Given the description of an element on the screen output the (x, y) to click on. 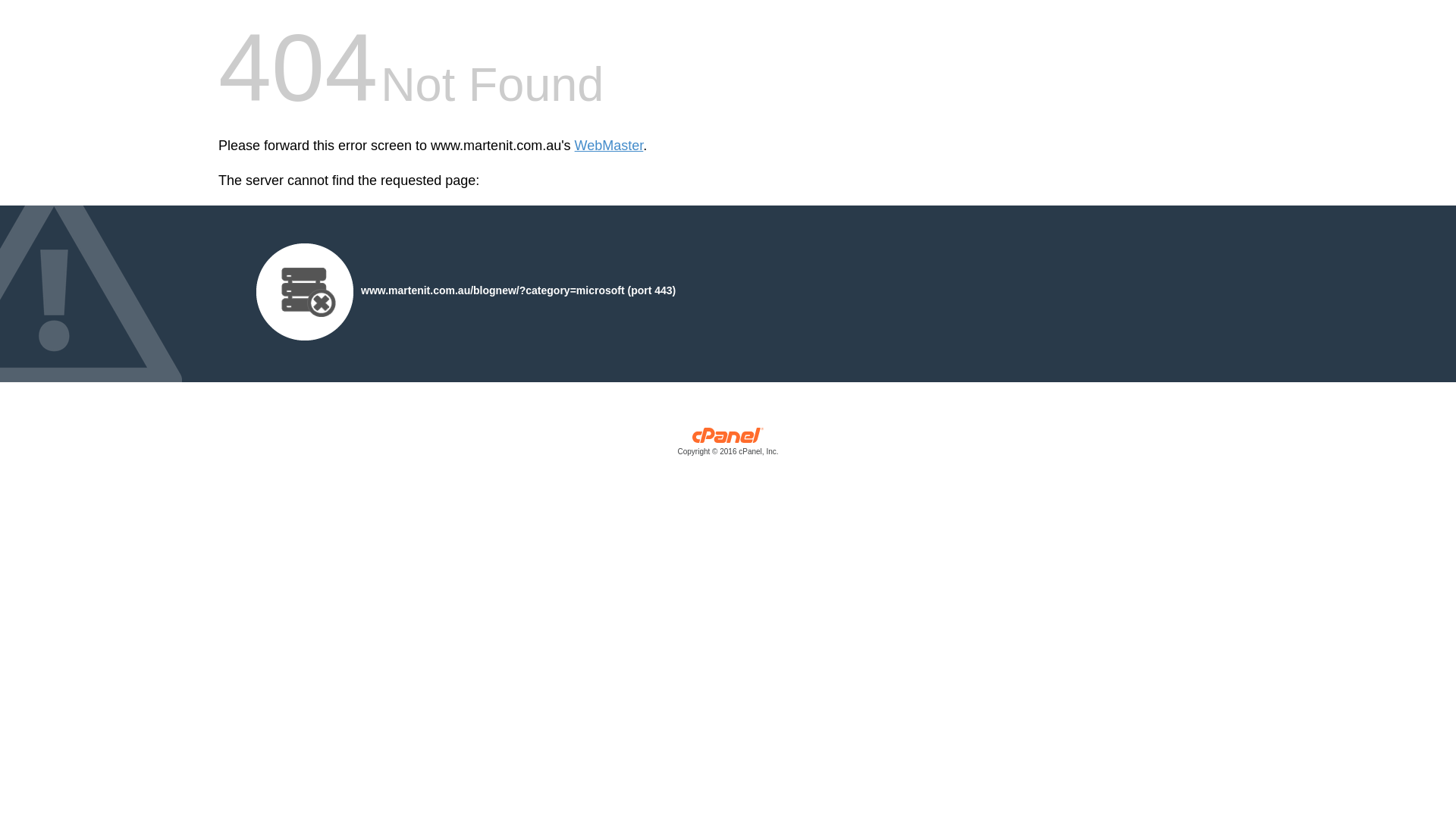
WebMaster Element type: text (608, 145)
